Given the description of an element on the screen output the (x, y) to click on. 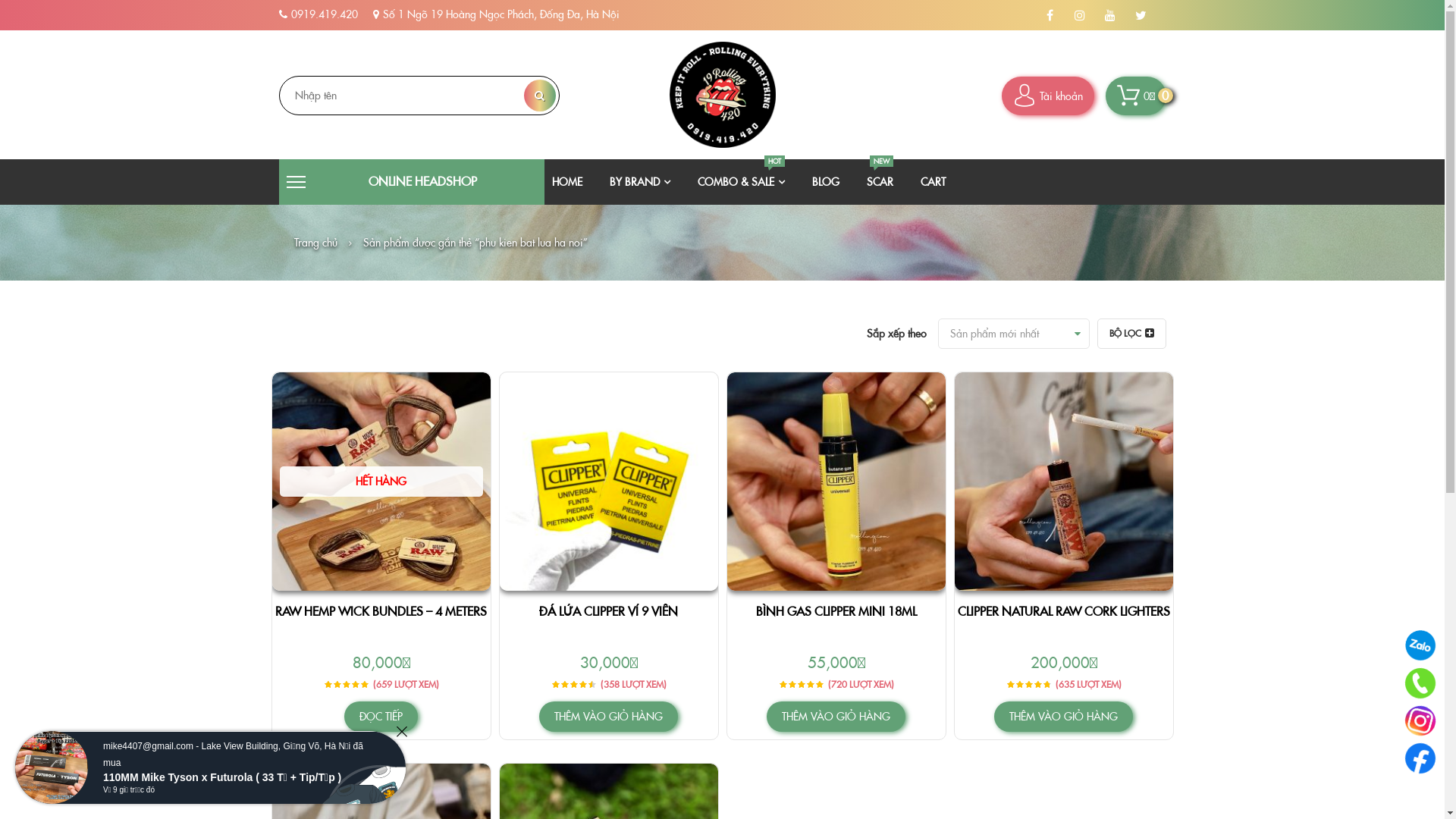
SCAR
NEW Element type: text (879, 181)
COMBO & SALE
HOT Element type: text (741, 181)
HOME Element type: text (566, 181)
BY BRAND Element type: text (639, 181)
BLOG Element type: text (825, 181)
CART Element type: text (933, 181)
0919.419.420 Element type: text (324, 14)
CLIPPER NATURAL RAW CORK LIGHTERS Element type: text (1063, 611)
